Given the description of an element on the screen output the (x, y) to click on. 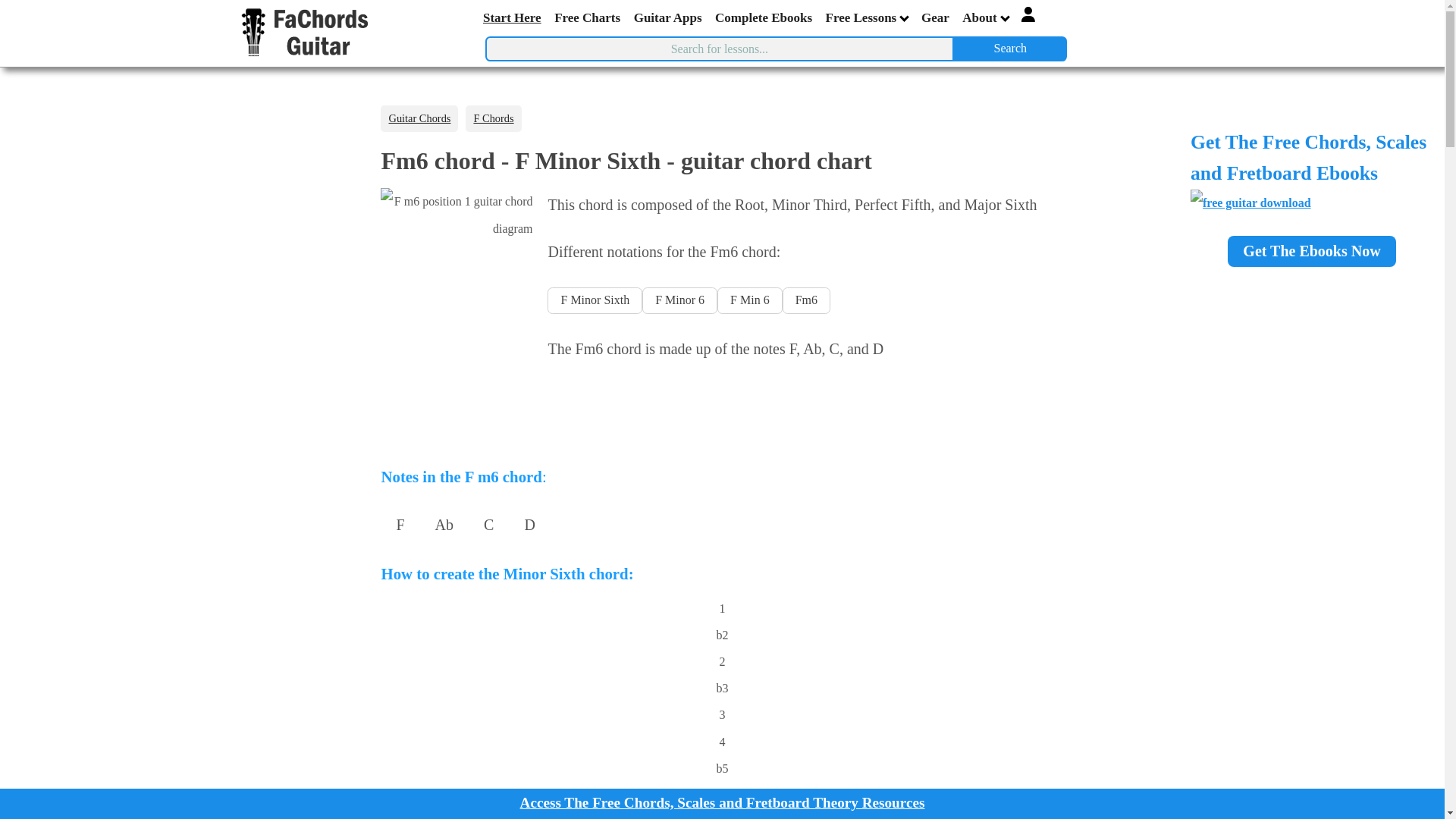
Search (1010, 49)
Search (1010, 49)
F Chords (493, 118)
Free Charts (588, 17)
Guitar Apps (667, 17)
About (986, 18)
Search (1010, 49)
Complete Ebooks (764, 17)
Gear (936, 17)
Free Lessons (867, 18)
Start Here (513, 17)
Guitar Chords (418, 118)
